Given the description of an element on the screen output the (x, y) to click on. 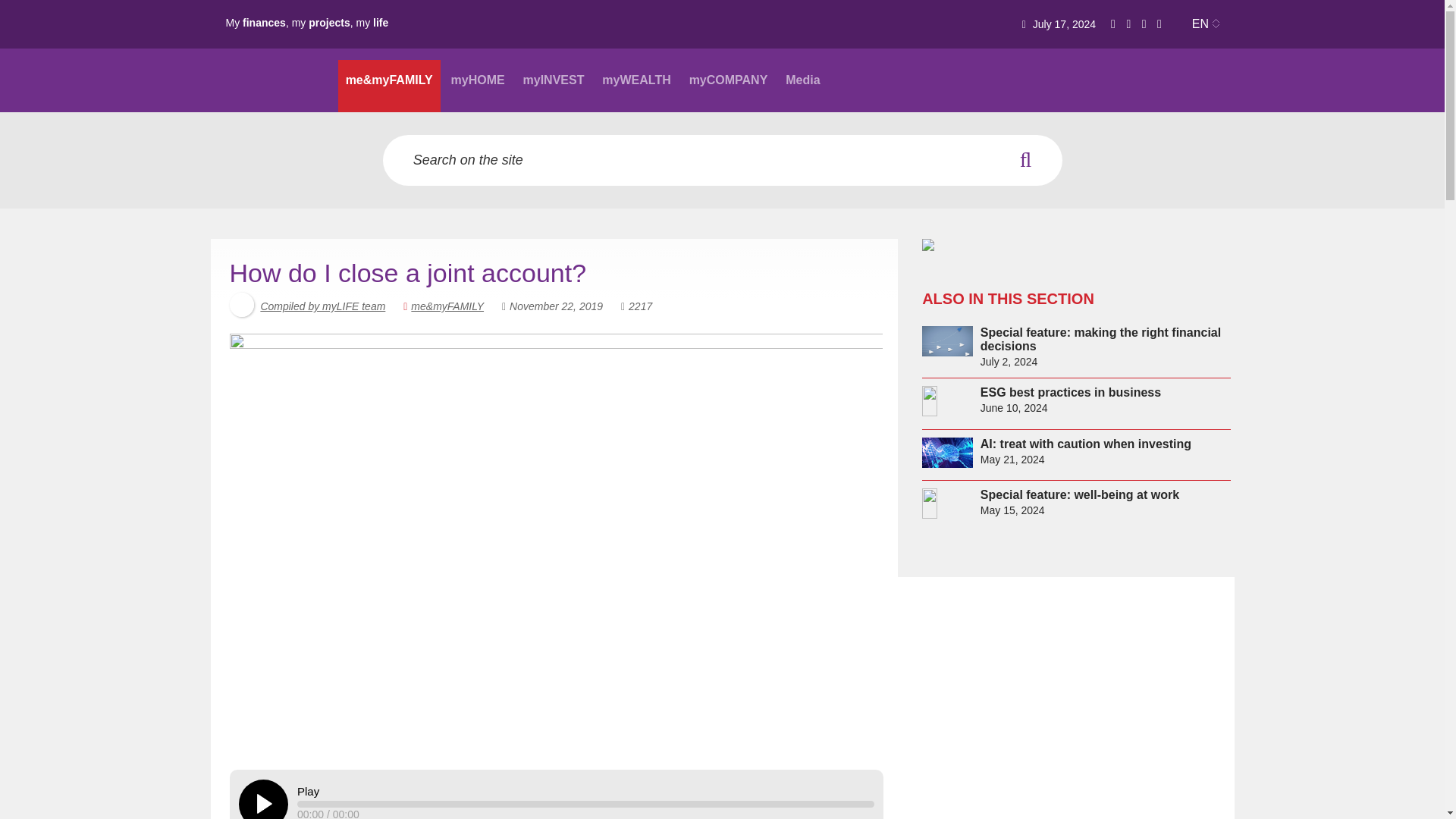
myINVEST (553, 85)
myHOME (478, 85)
myWEALTH (636, 85)
